Given the description of an element on the screen output the (x, y) to click on. 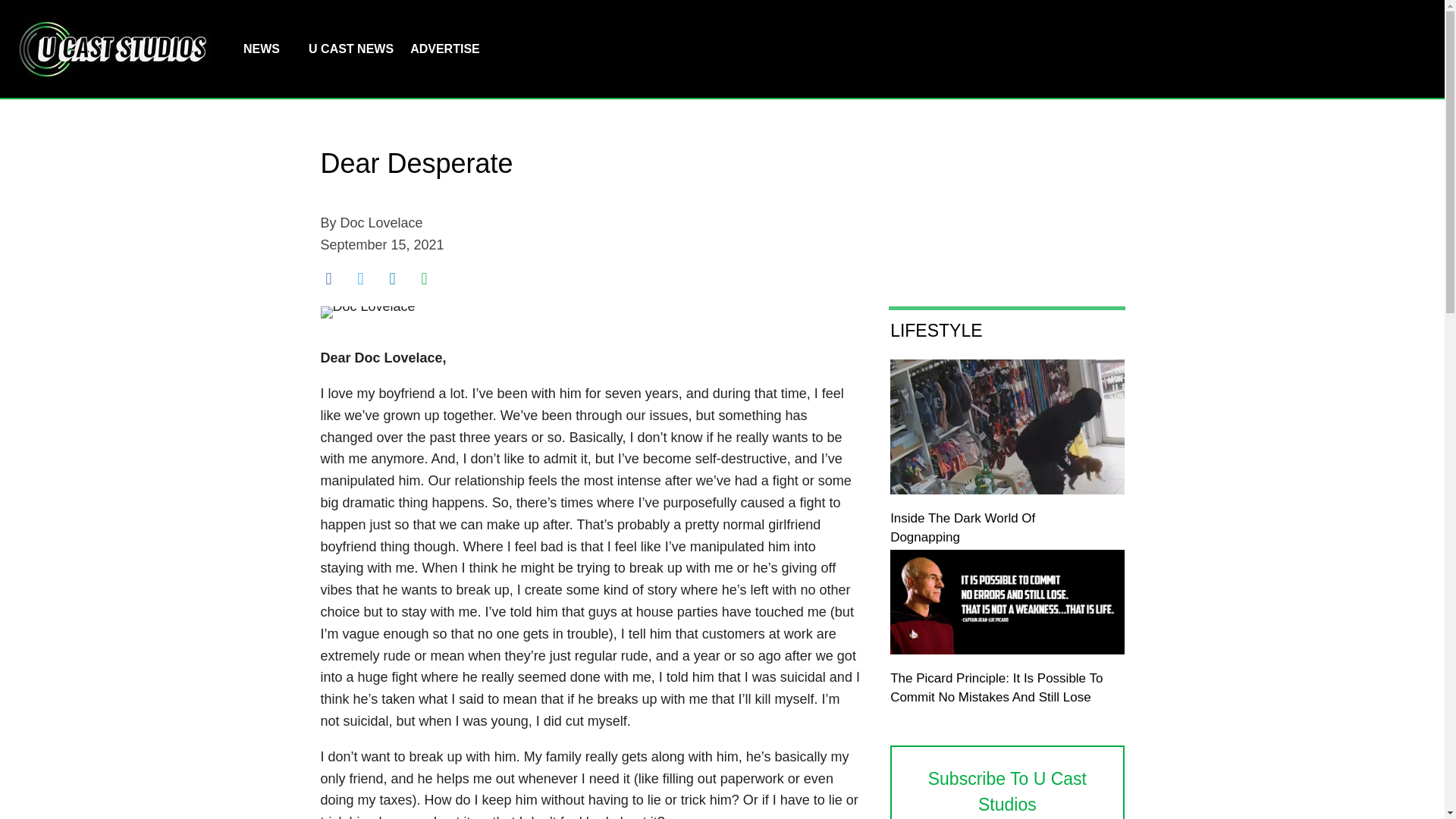
Inside The Dark World Of Dognapping (1006, 489)
Doc Lovelace (367, 312)
ADVERTISE (444, 48)
U CAST NEWS (350, 48)
Inside The Dark World Of Dognapping (962, 528)
Inside The Dark World Of Dognapping (962, 528)
Doc Lovelace (381, 222)
